Given the description of an element on the screen output the (x, y) to click on. 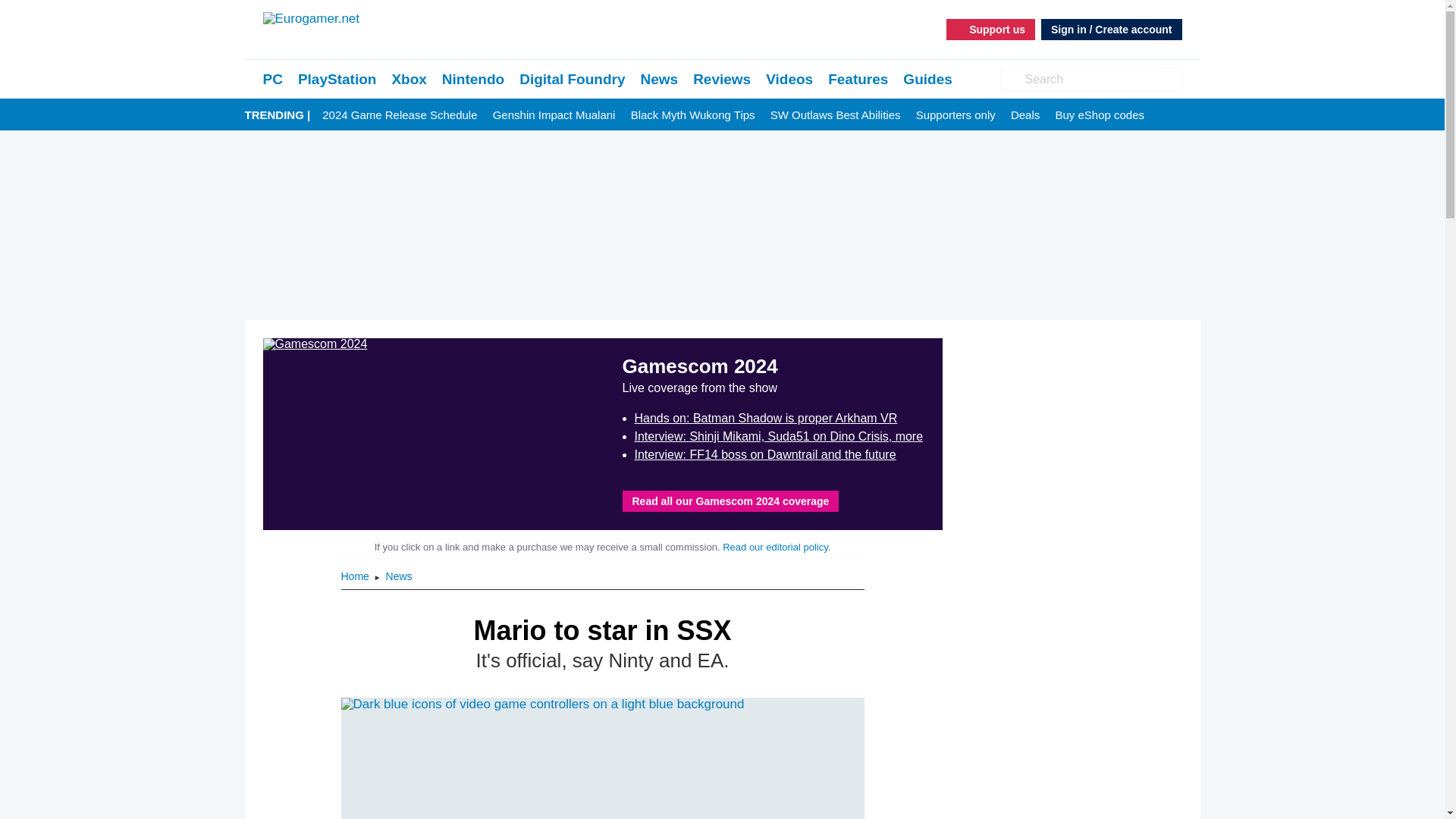
Nintendo (472, 78)
Black Myth Wukong Tips (692, 114)
2024 Game Release Schedule (399, 114)
Videos (788, 78)
Reviews (722, 78)
2024 Game Release Schedule (399, 114)
Interview: Shinji Mikami, Suda51 on Dino Crisis, more (778, 436)
Interview: FF14 boss on Dawntrail and the future (764, 454)
Supporters only (955, 114)
Black Myth Wukong Tips (692, 114)
